Given the description of an element on the screen output the (x, y) to click on. 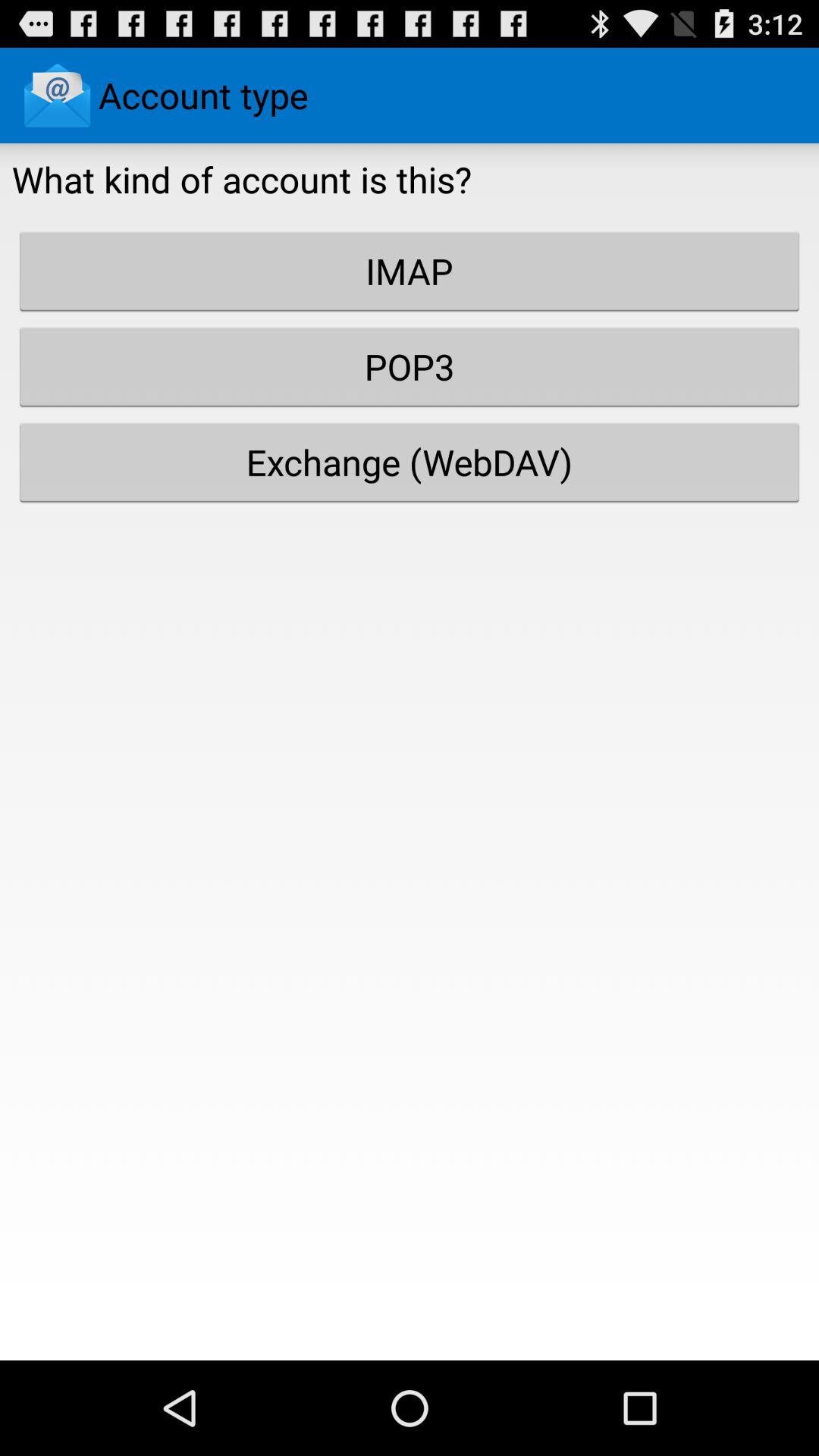
turn off item above the pop3 button (409, 271)
